Given the description of an element on the screen output the (x, y) to click on. 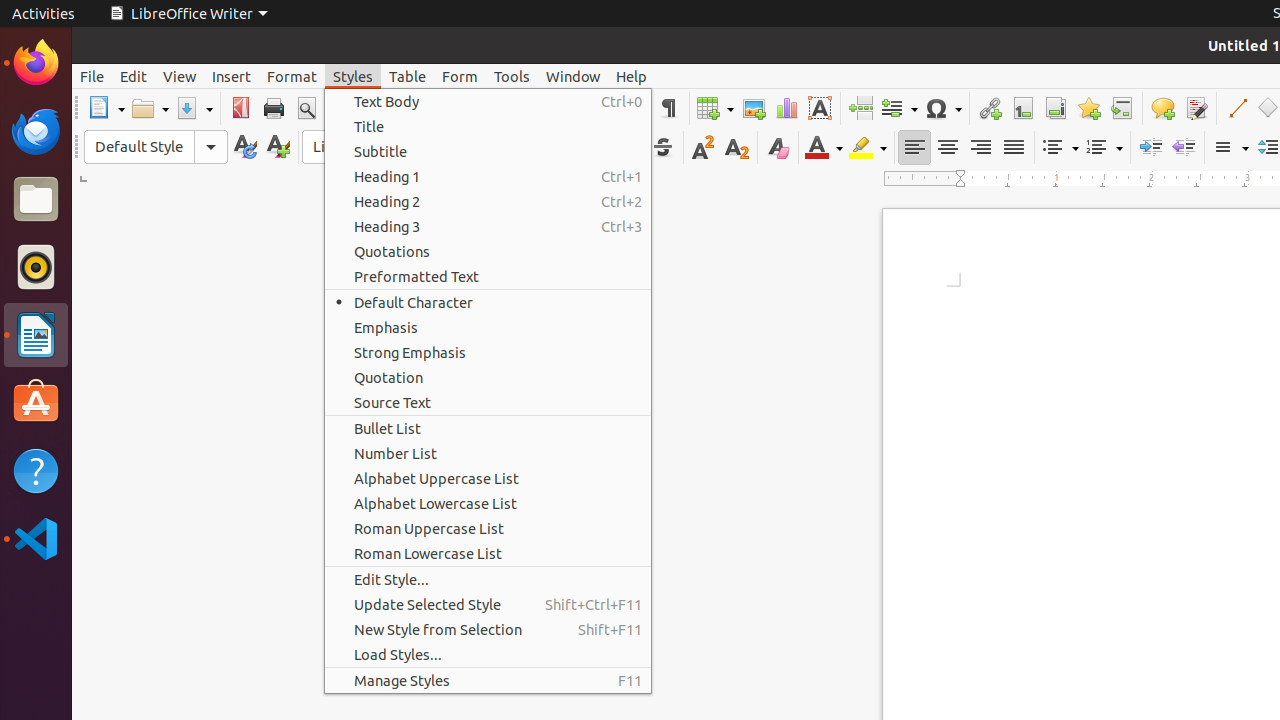
File Element type: menu (92, 76)
Default Character Element type: radio-menu-item (488, 302)
Center Element type: toggle-button (947, 147)
Heading 1 Element type: radio-menu-item (488, 176)
PDF Element type: push-button (240, 108)
